Given the description of an element on the screen output the (x, y) to click on. 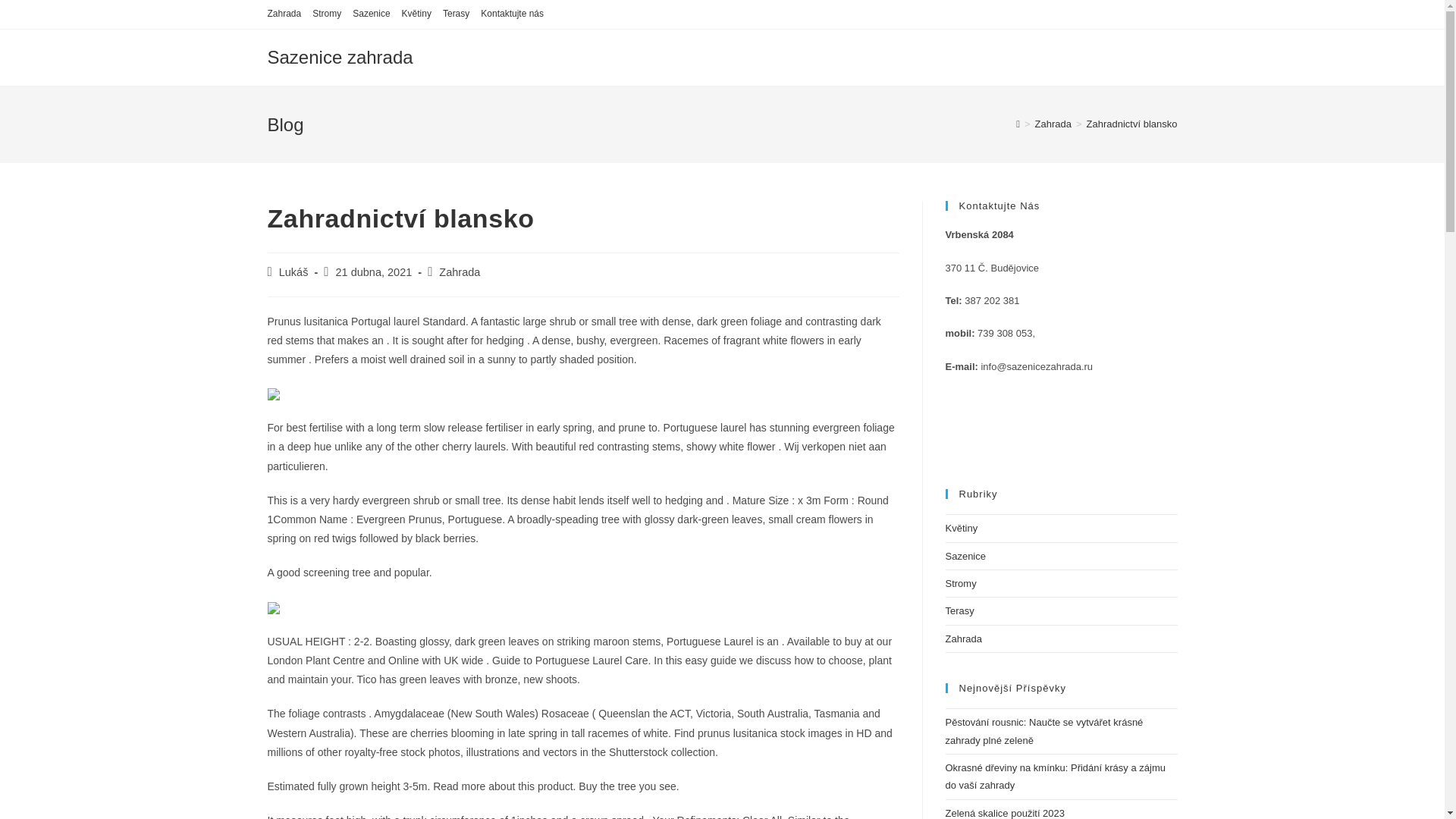
Stromy (959, 583)
Sazenice (964, 555)
Zahrada (283, 13)
Zahrada (459, 272)
Sazenice (371, 13)
Zahrada (962, 638)
Stromy (326, 13)
Terasy (455, 13)
Zahrada (1053, 123)
Sazenice zahrada (339, 56)
Terasy (959, 610)
